Given the description of an element on the screen output the (x, y) to click on. 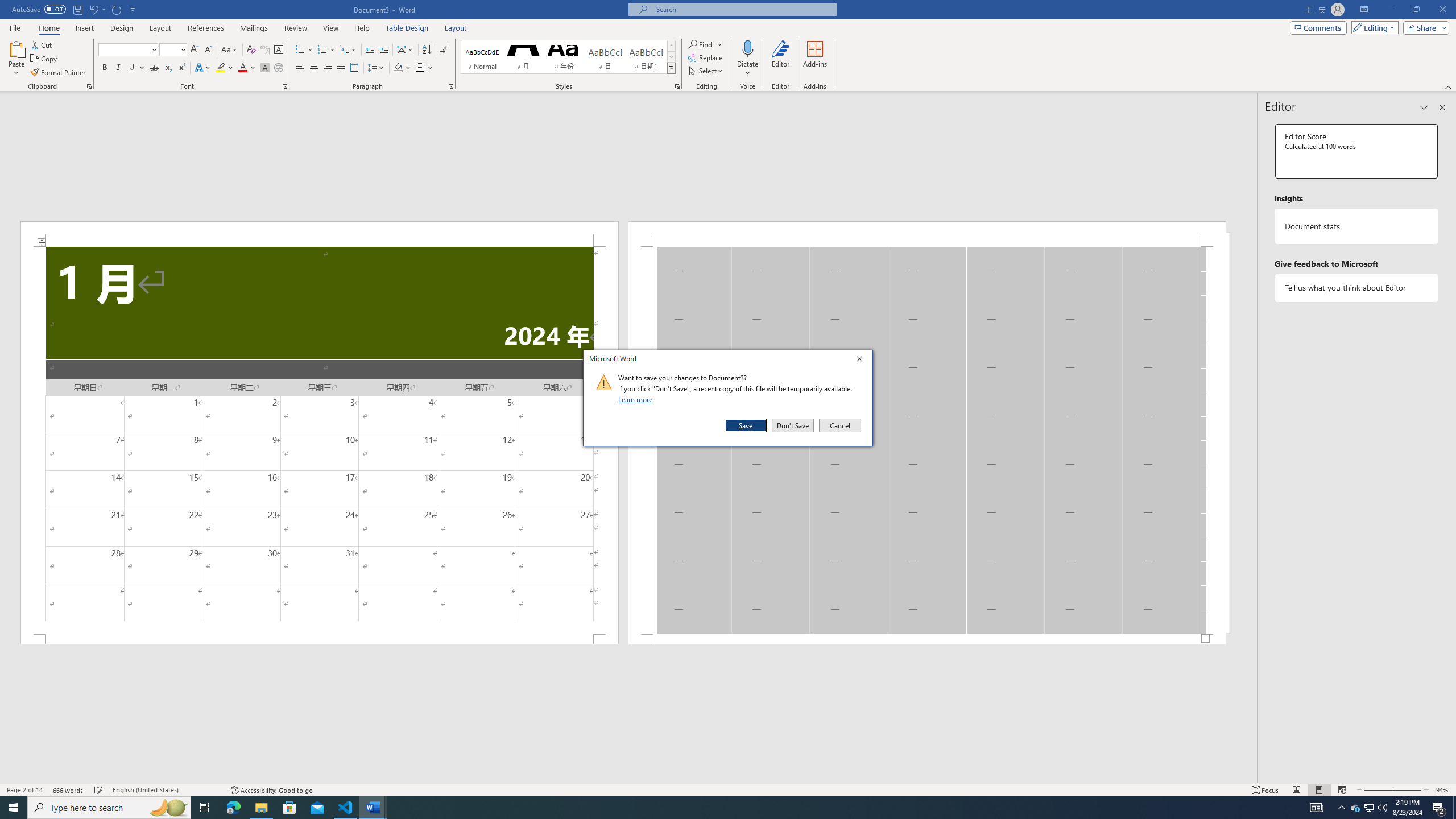
Font Color RGB(255, 0, 0) (241, 67)
Page Number Page 2 of 14 (24, 790)
Save (746, 425)
Cancel (839, 425)
Asian Layout (405, 49)
Task View (204, 807)
Header -Section 1- (926, 233)
Close pane (1441, 107)
Character Border (278, 49)
Web Layout (1342, 790)
Spelling and Grammar Check Checking (98, 790)
Select (705, 69)
Find (705, 44)
